Given the description of an element on the screen output the (x, y) to click on. 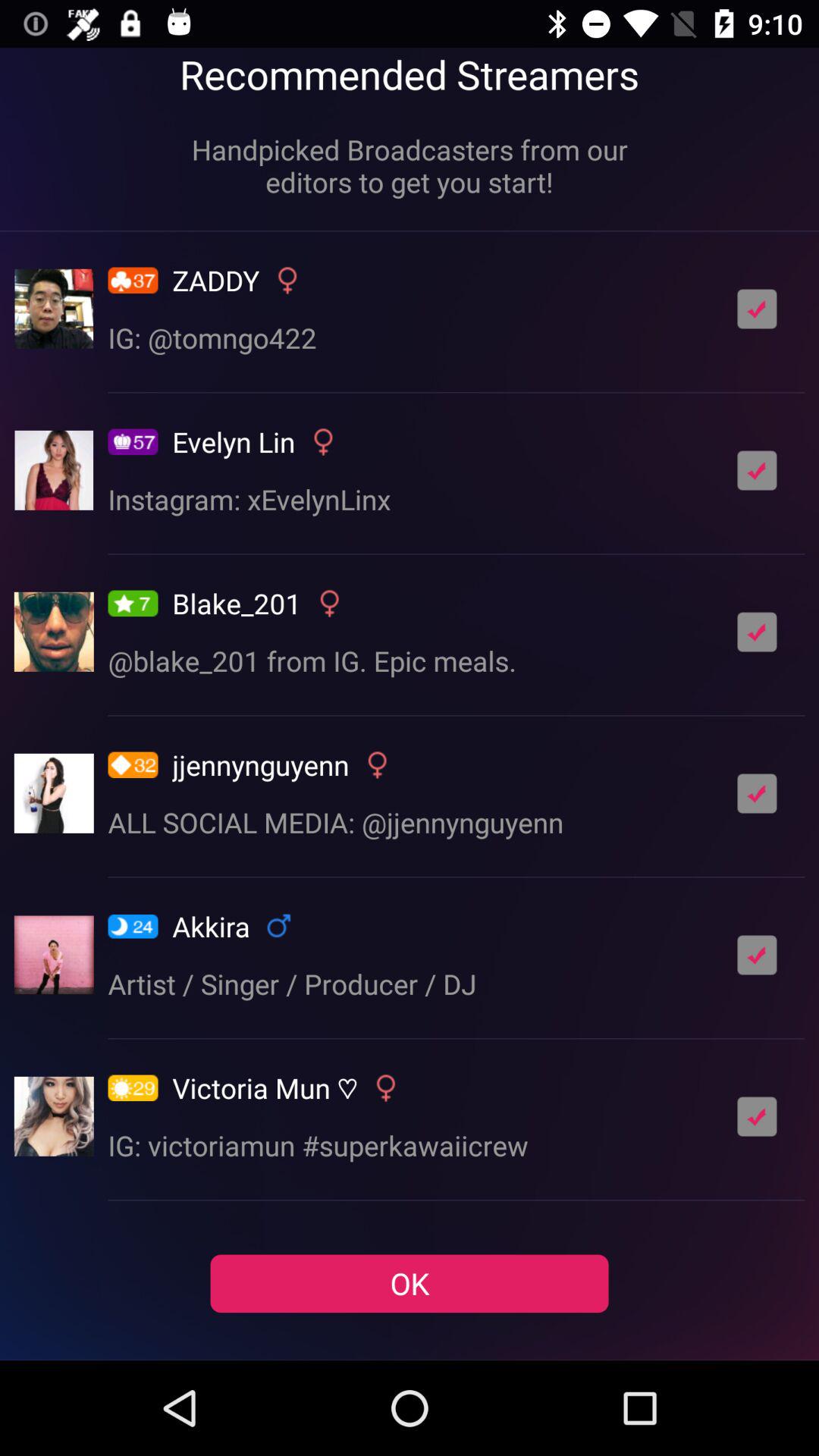
select streamer (756, 308)
